Given the description of an element on the screen output the (x, y) to click on. 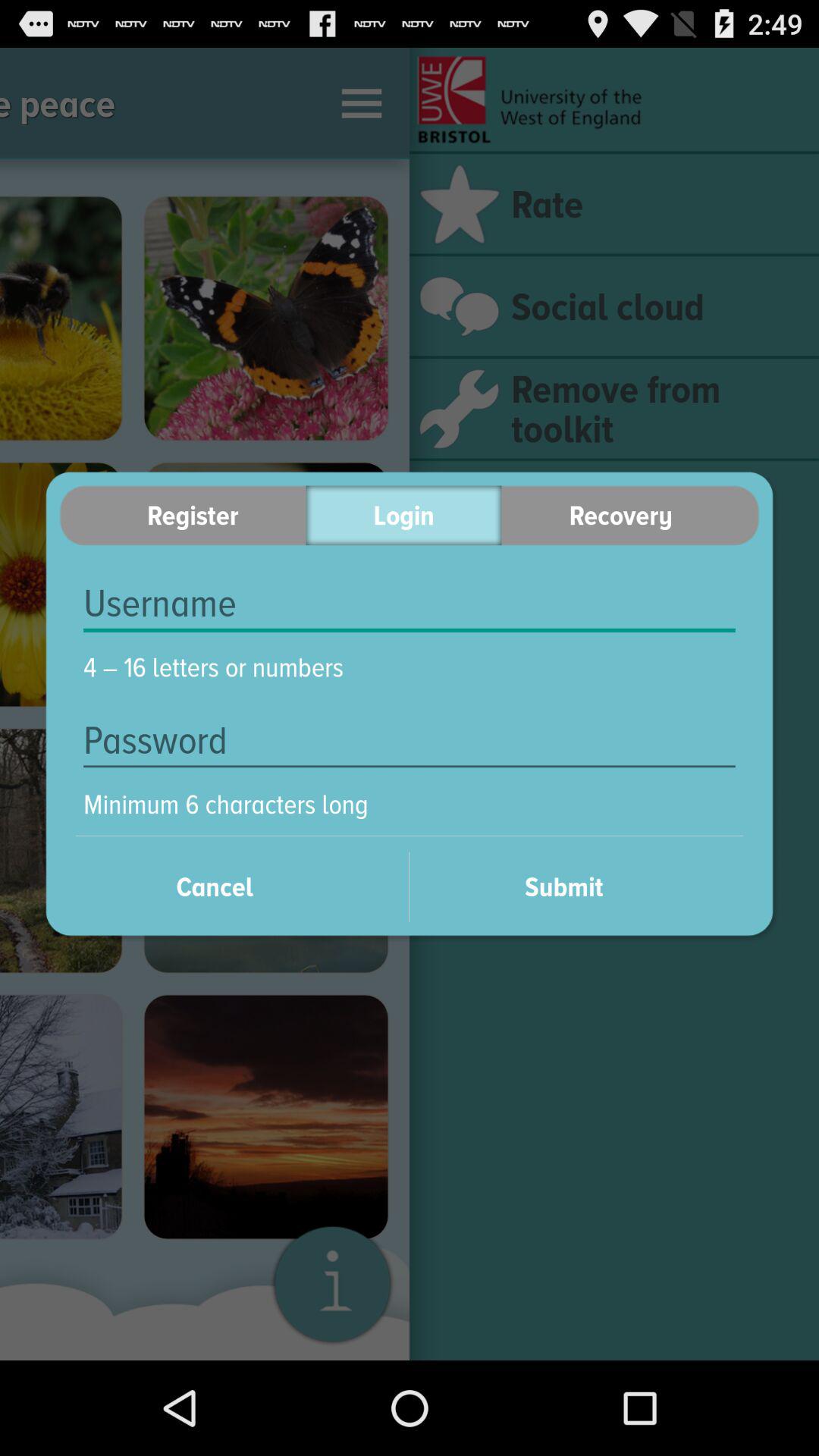
select register icon (182, 515)
